Given the description of an element on the screen output the (x, y) to click on. 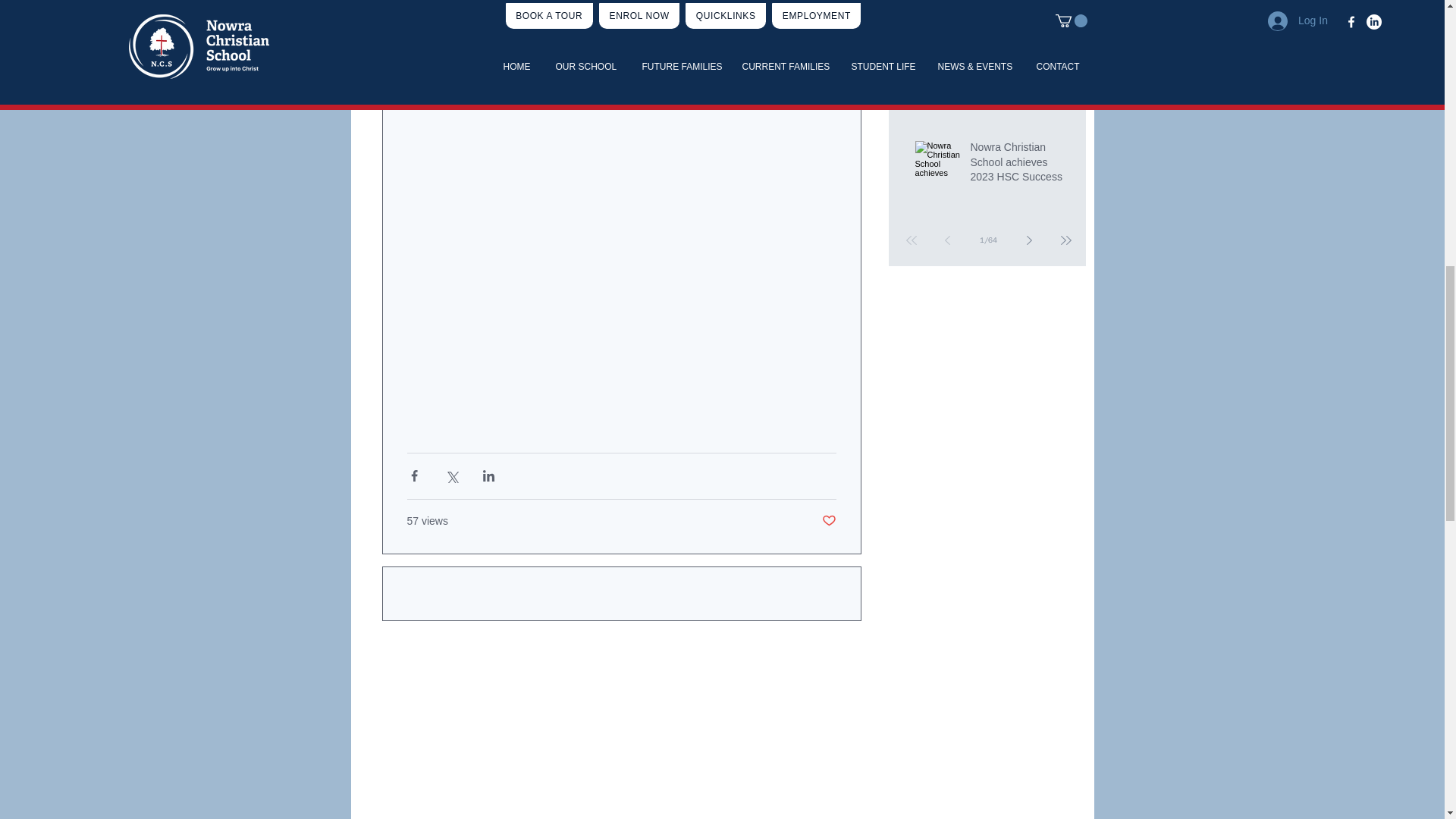
ricos-video (620, 155)
